Given the description of an element on the screen output the (x, y) to click on. 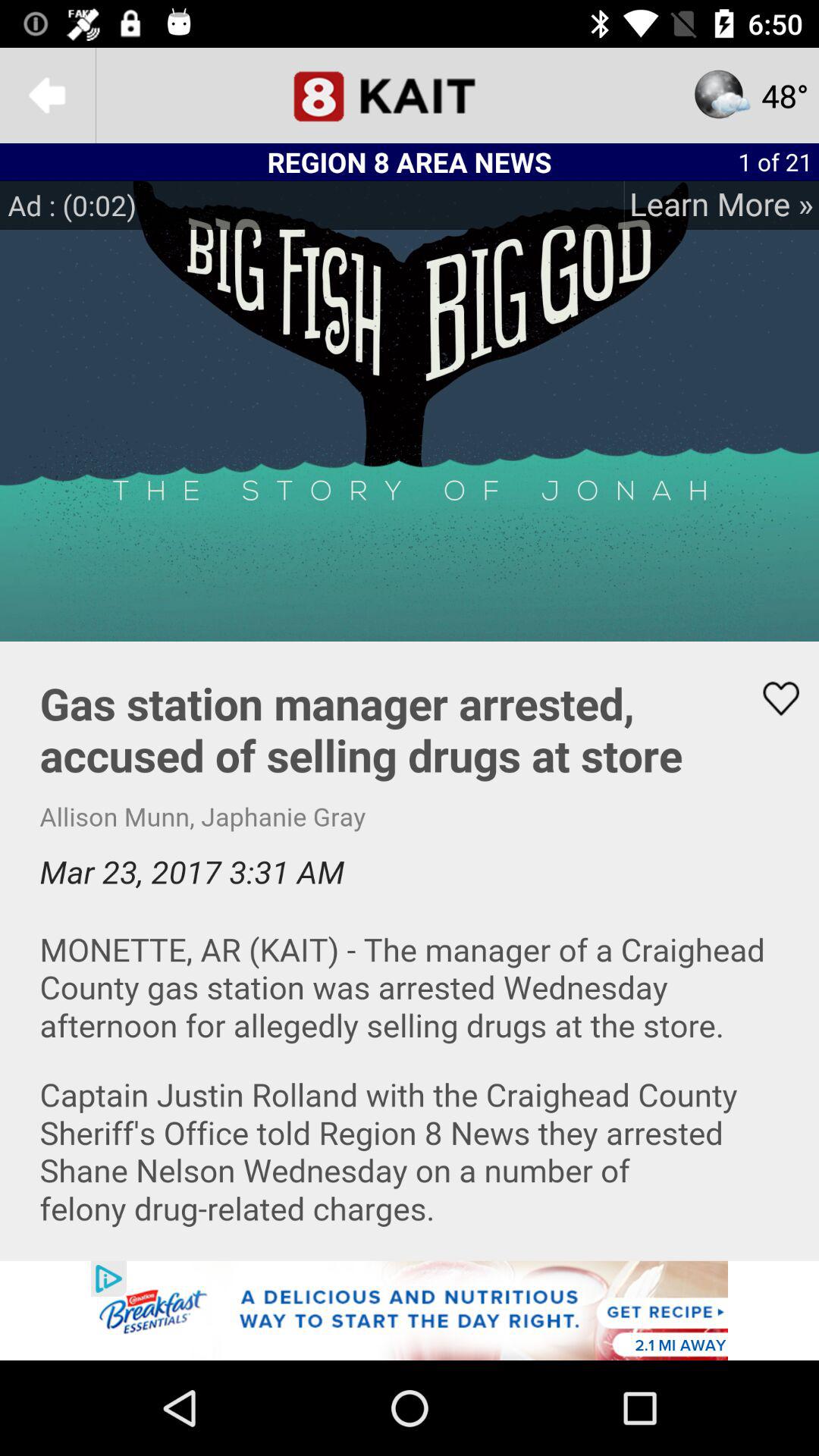
go to option (409, 1310)
